Given the description of an element on the screen output the (x, y) to click on. 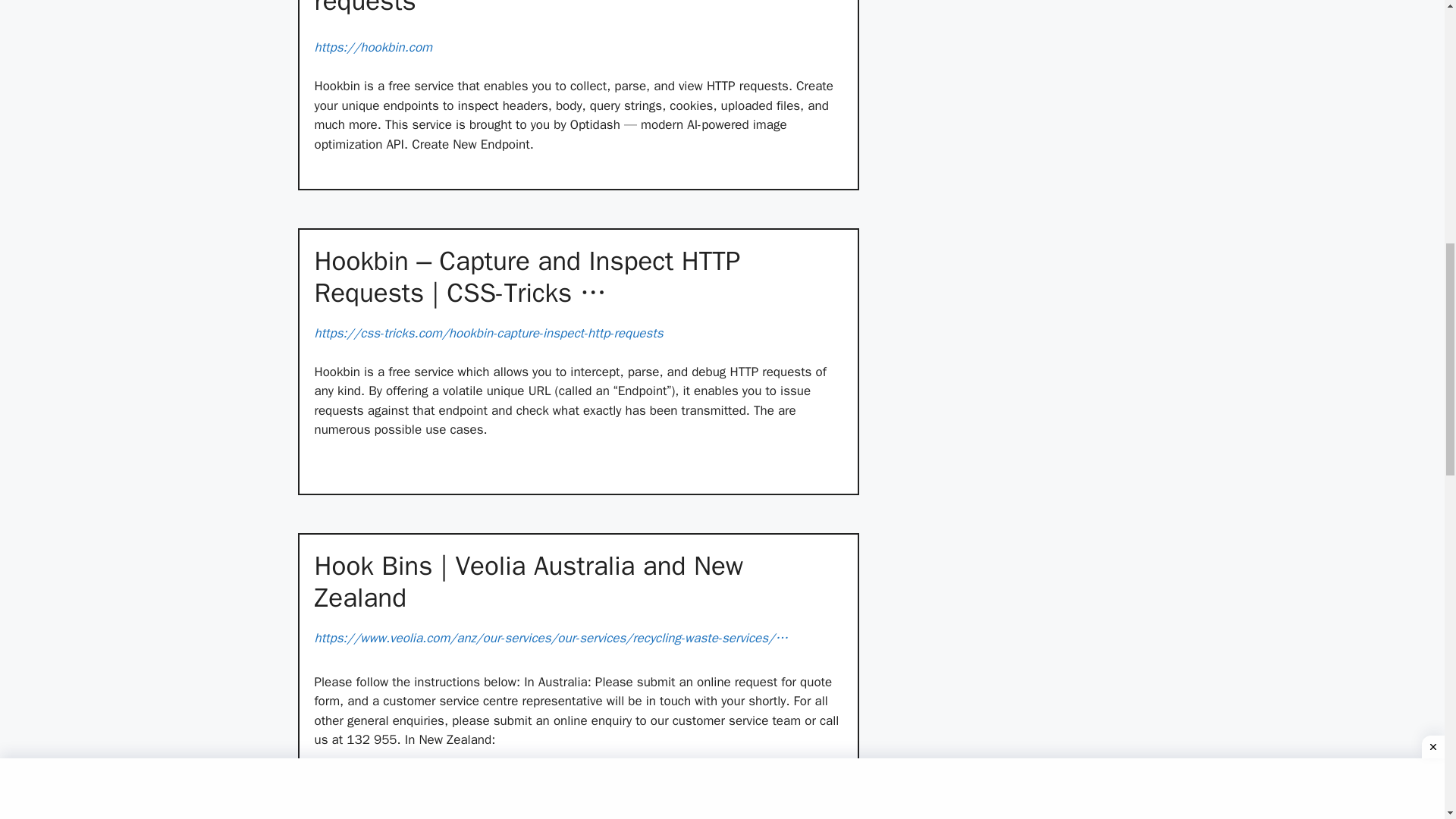
Hookbin - Capture and inspect HTTP requests (577, 8)
